Given the description of an element on the screen output the (x, y) to click on. 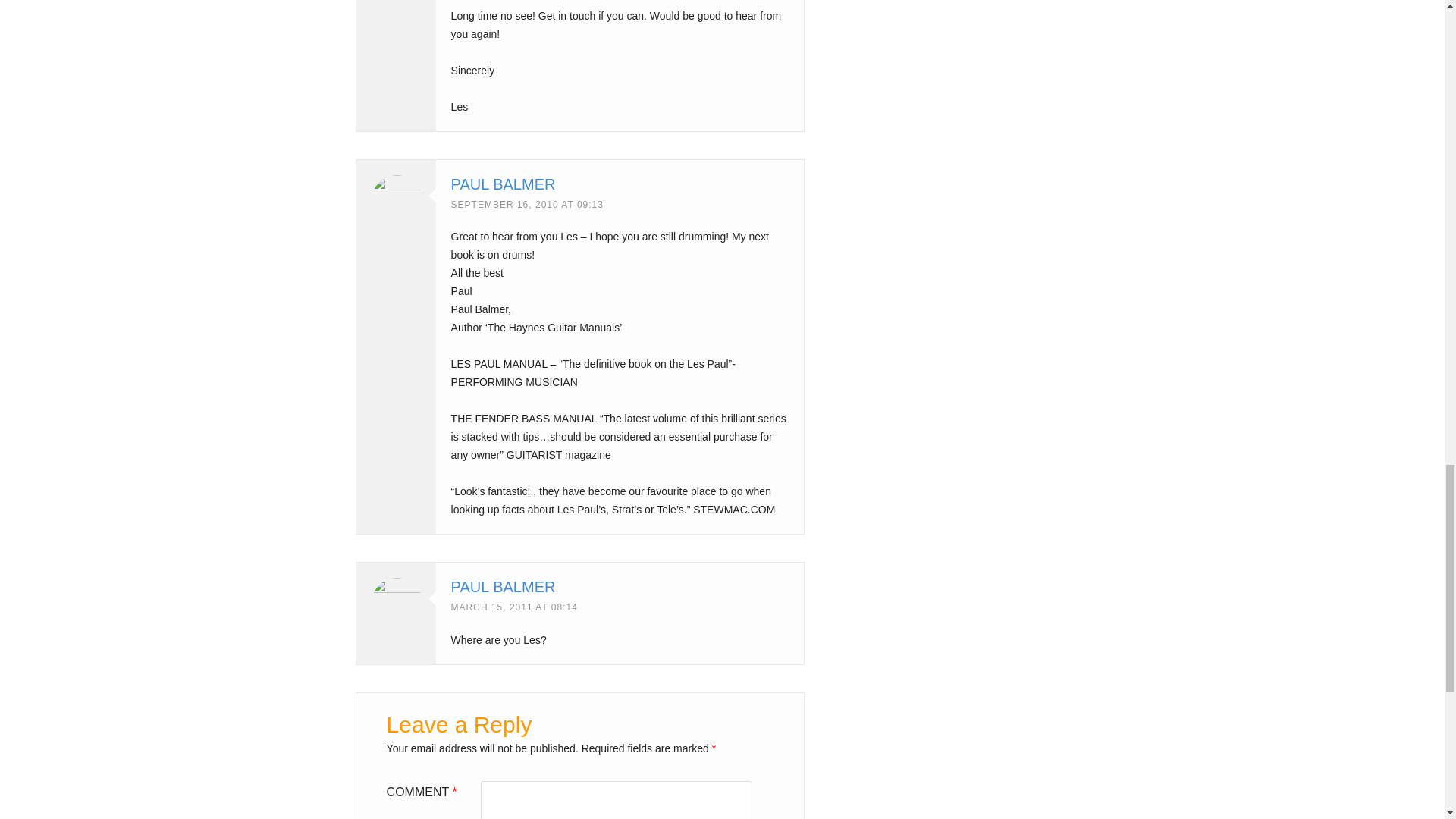
MARCH 15, 2011 AT 08:14 (514, 606)
PAUL BALMER (503, 586)
PAUL BALMER (503, 184)
SEPTEMBER 16, 2010 AT 09:13 (527, 204)
